Given the description of an element on the screen output the (x, y) to click on. 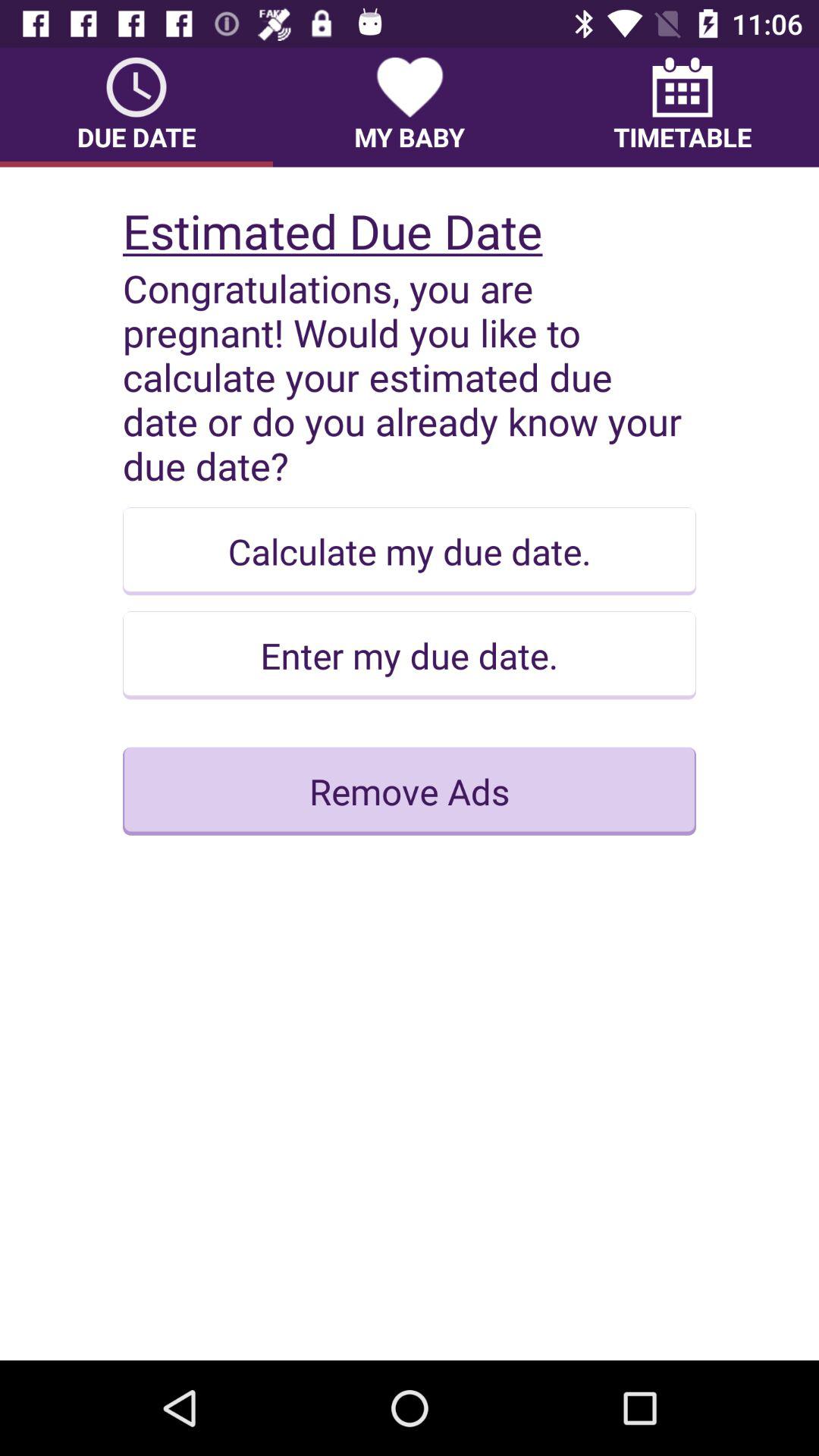
turn off the item below enter my due (409, 791)
